Given the description of an element on the screen output the (x, y) to click on. 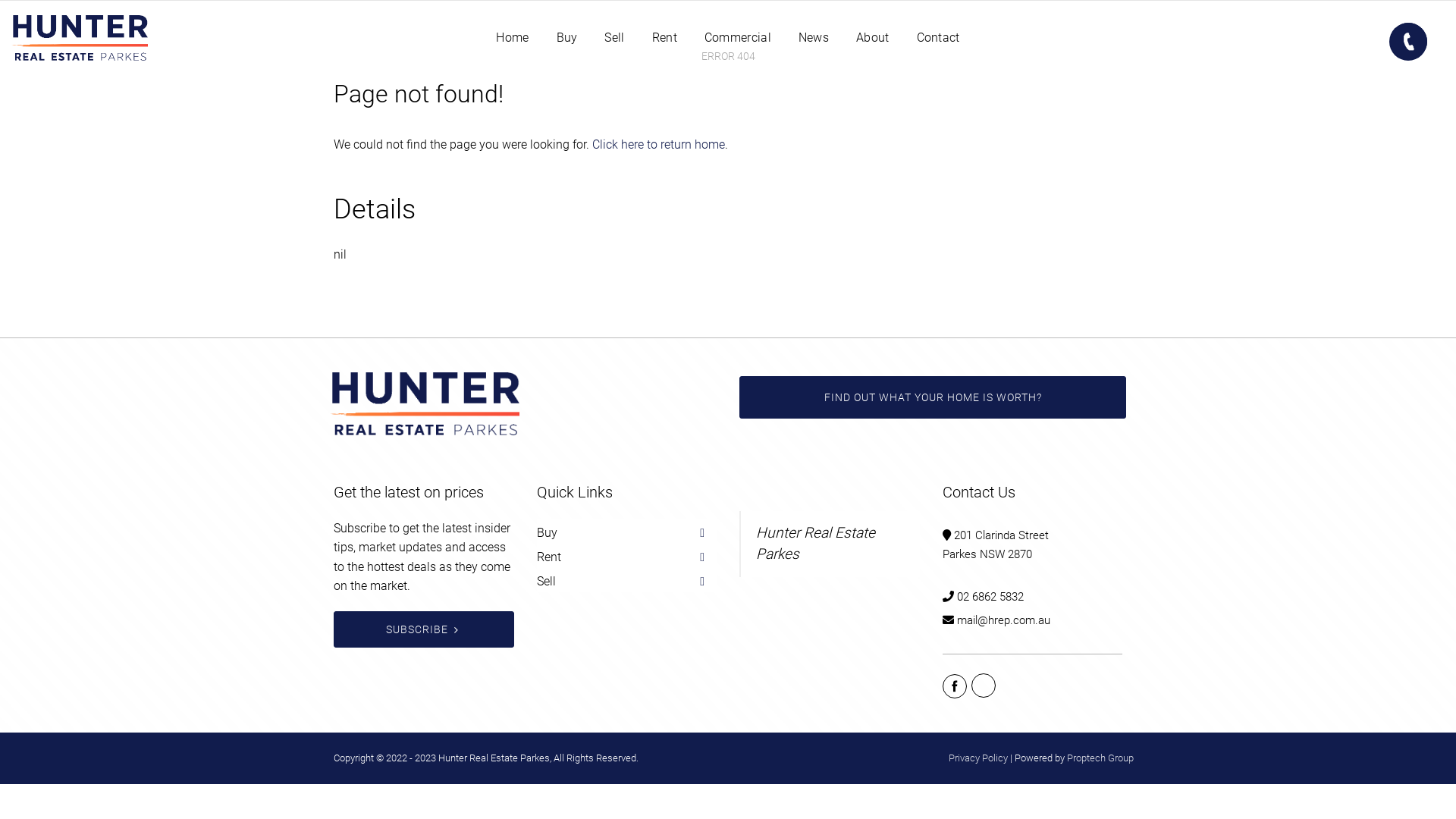
Home Element type: text (511, 37)
02 6862 5832 Element type: text (990, 596)
mail@hrep.com.au Element type: text (1003, 620)
Proptech Group Element type: text (1099, 757)
Privacy Policy Element type: text (977, 757)
Buy Element type: text (566, 37)
Contact Element type: text (938, 37)
Sell Element type: text (614, 37)
Click here to return home Element type: text (658, 144)
FIND OUT WHAT YOUR HOME IS WORTH? Element type: text (932, 397)
Rent Element type: text (664, 37)
About Element type: text (872, 37)
Hunter Real Estate Parkes Element type: text (815, 543)
News Element type: text (813, 37)
SUBSCRIBE Element type: text (423, 629)
Commercial Element type: text (737, 37)
